Given the description of an element on the screen output the (x, y) to click on. 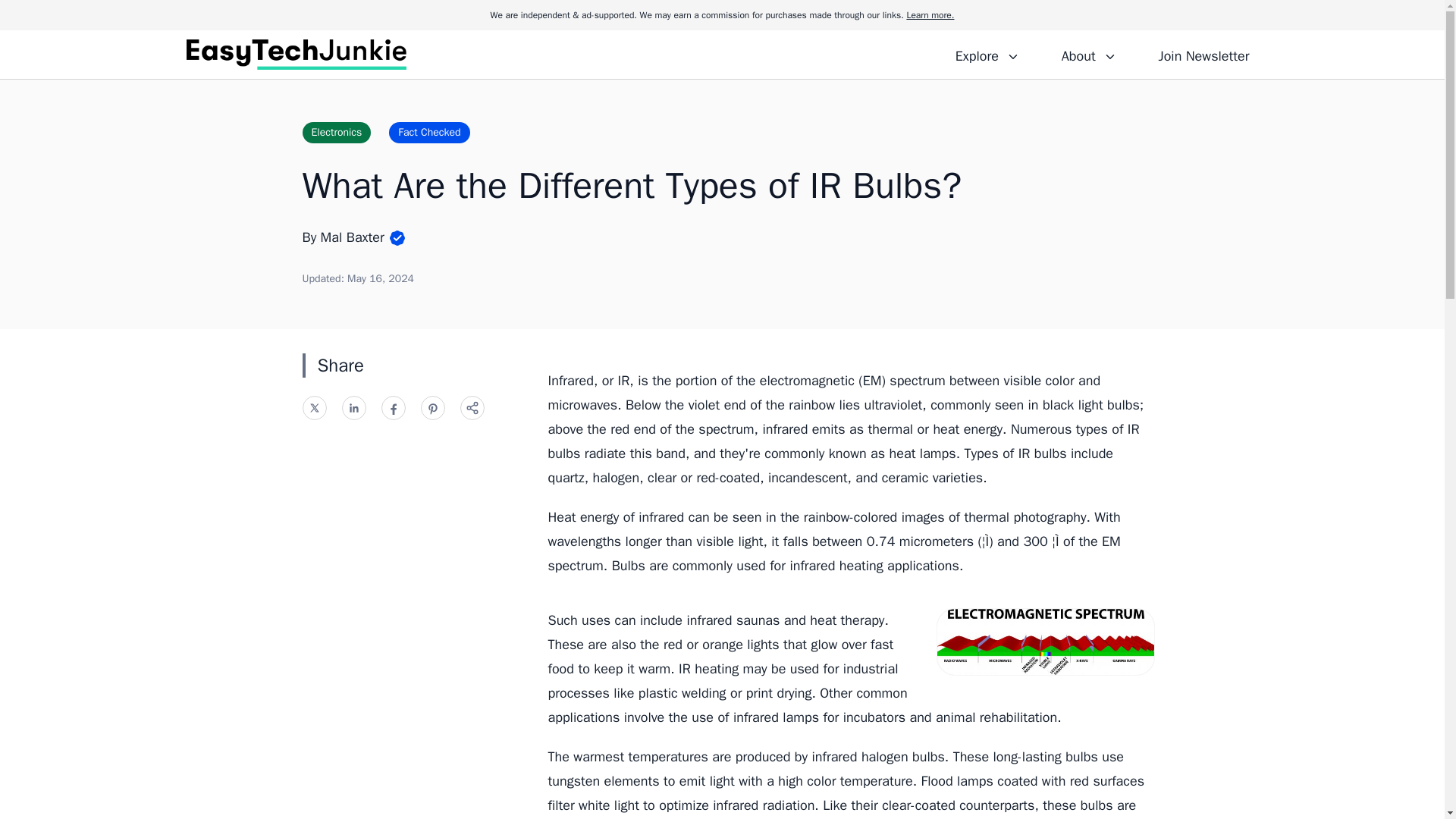
Electronics (336, 132)
Explore (986, 54)
Fact Checked (428, 132)
About (1088, 54)
Learn more. (929, 15)
Join Newsletter (1202, 54)
